Given the description of an element on the screen output the (x, y) to click on. 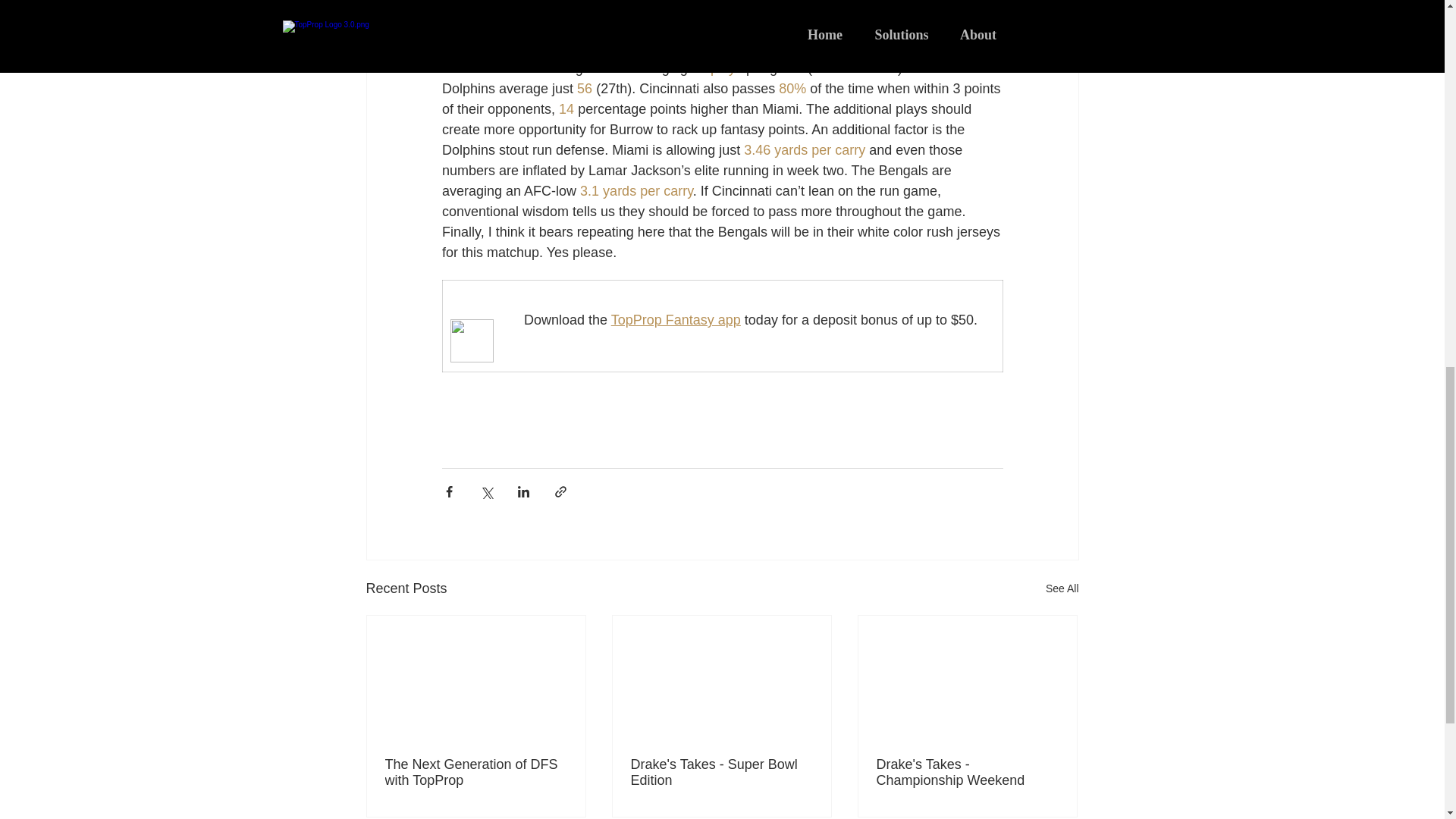
See All (1061, 588)
Drake's Takes - Championship Weekend (967, 772)
71 plays (715, 68)
56 (584, 88)
TopProp Fantasy app (674, 319)
Drake's Takes - Super Bowl Edition (721, 772)
14 (566, 109)
3.46 yards per carry (804, 150)
3.1 yards per carry (636, 191)
The Next Generation of DFS with TopProp (476, 772)
